Given the description of an element on the screen output the (x, y) to click on. 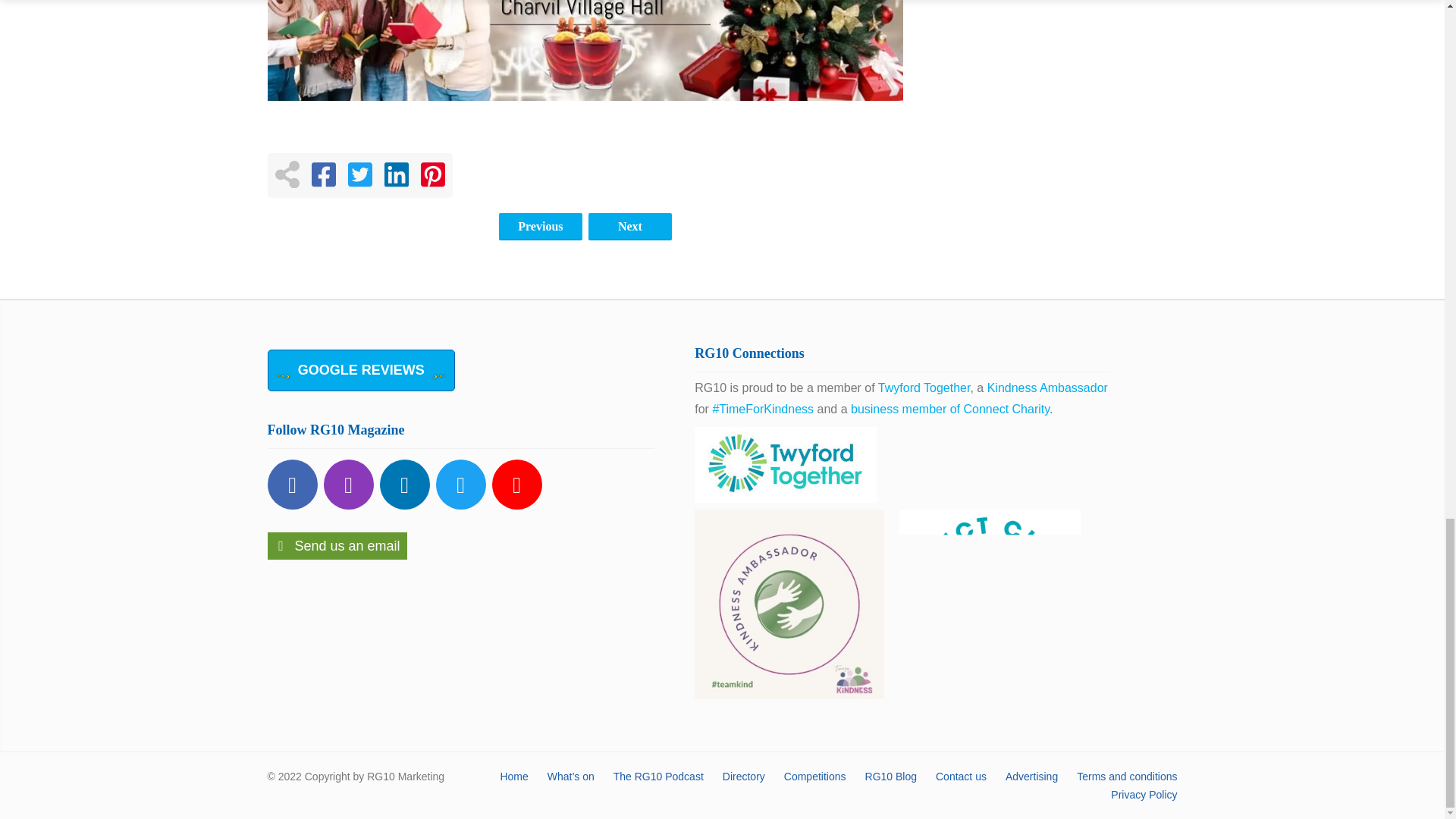
Follow us on Instagram (347, 484)
Follow us on Facebook (291, 484)
Kindness Ambassador (1047, 387)
Follow us on LinkedIn (403, 484)
Follow us on Facebook (291, 484)
Twyford Together (924, 387)
Follow us on Instagram (347, 484)
Follow us on LinkedIn (403, 484)
Follow us on Twitter (459, 484)
Follow us on YouTube (516, 484)
